Given the description of an element on the screen output the (x, y) to click on. 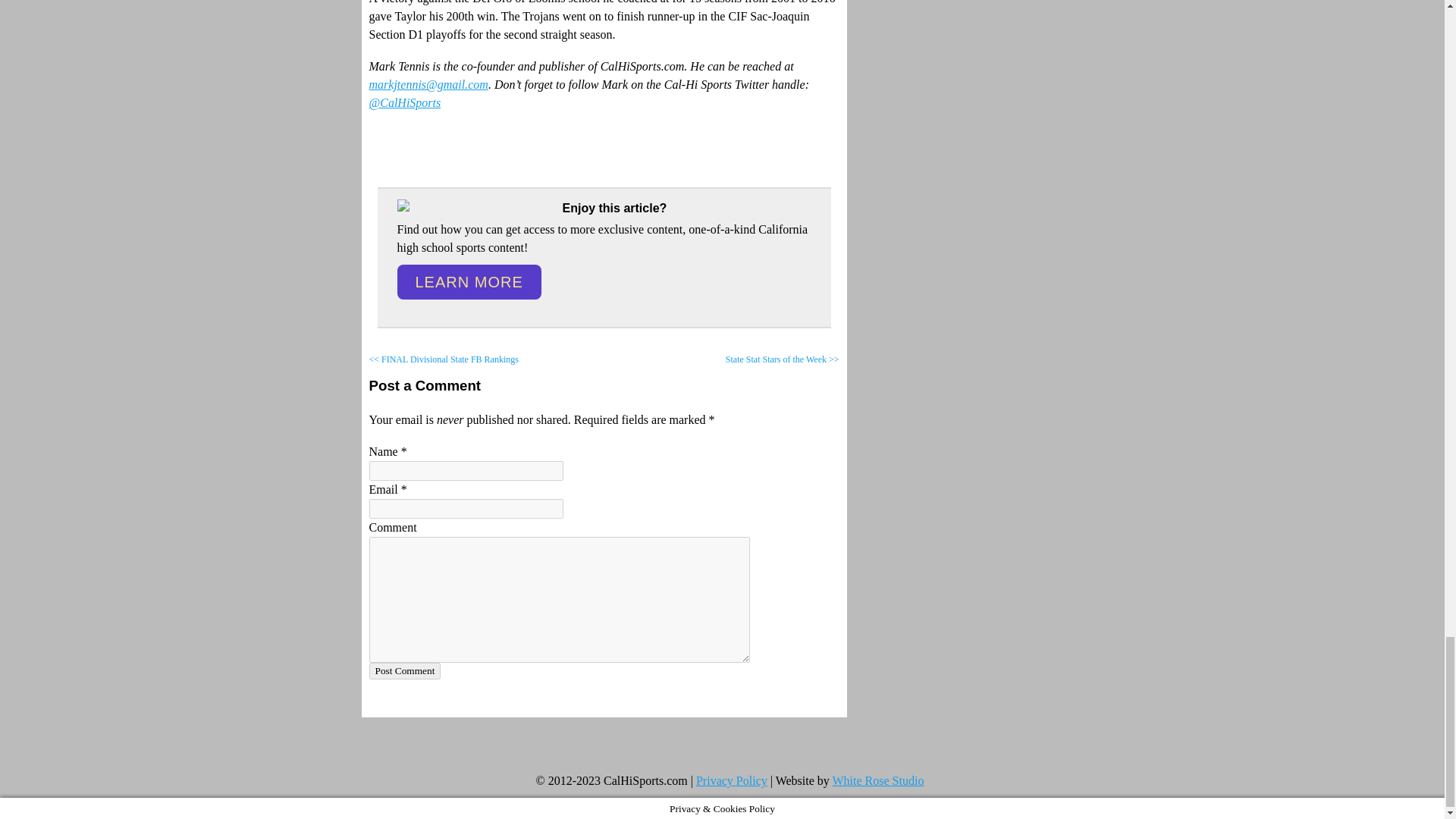
Post Comment (404, 670)
